Given the description of an element on the screen output the (x, y) to click on. 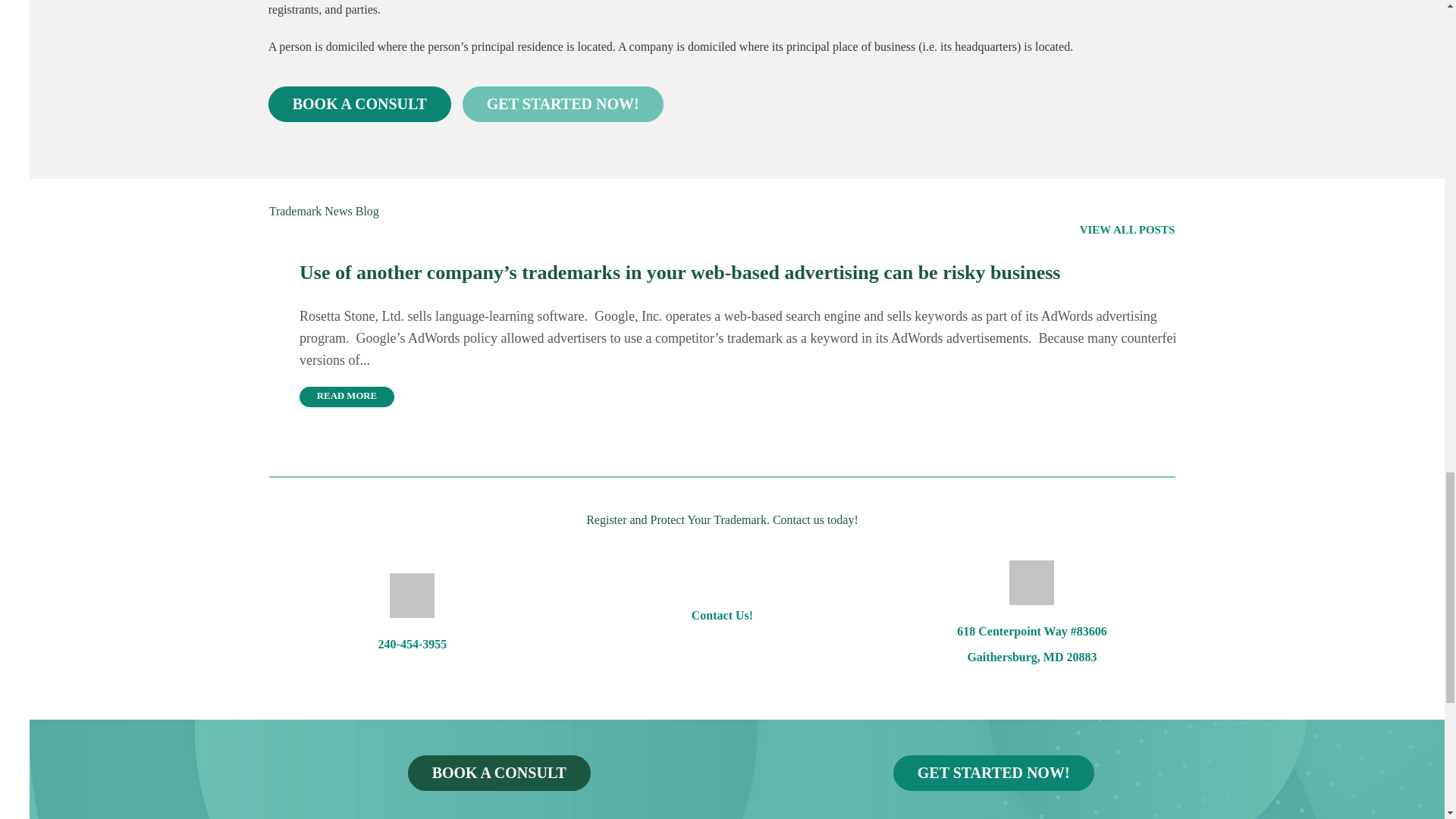
BOOK A CONSULT (359, 104)
pin-icon (1031, 582)
GET STARTED NOW! (563, 104)
phone-icon (411, 595)
